Given the description of an element on the screen output the (x, y) to click on. 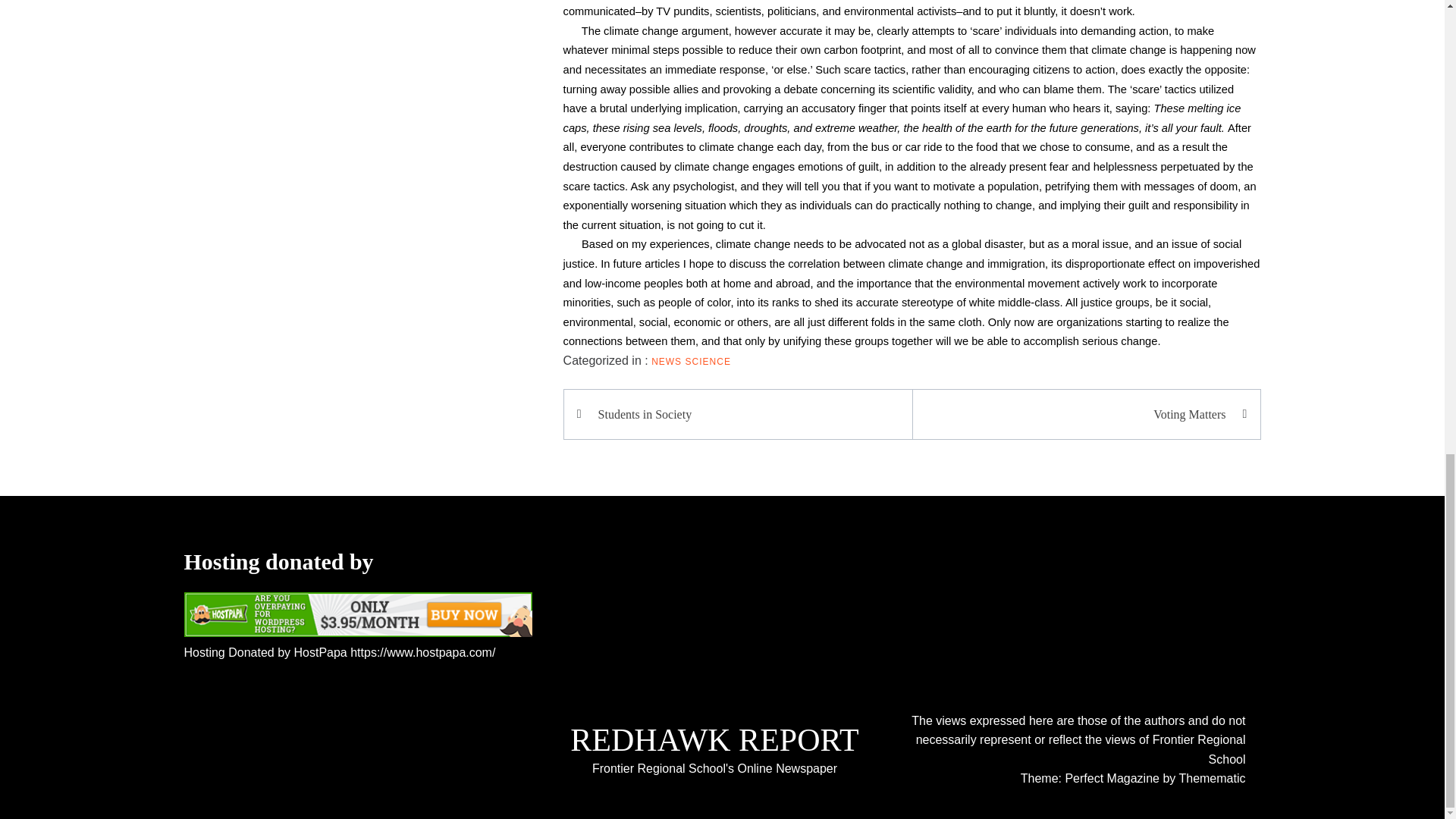
Themematic (1210, 778)
NEWS (665, 361)
Students in Society (745, 414)
Voting Matters (1078, 414)
REDHAWK REPORT (714, 739)
SCIENCE (707, 361)
